Given the description of an element on the screen output the (x, y) to click on. 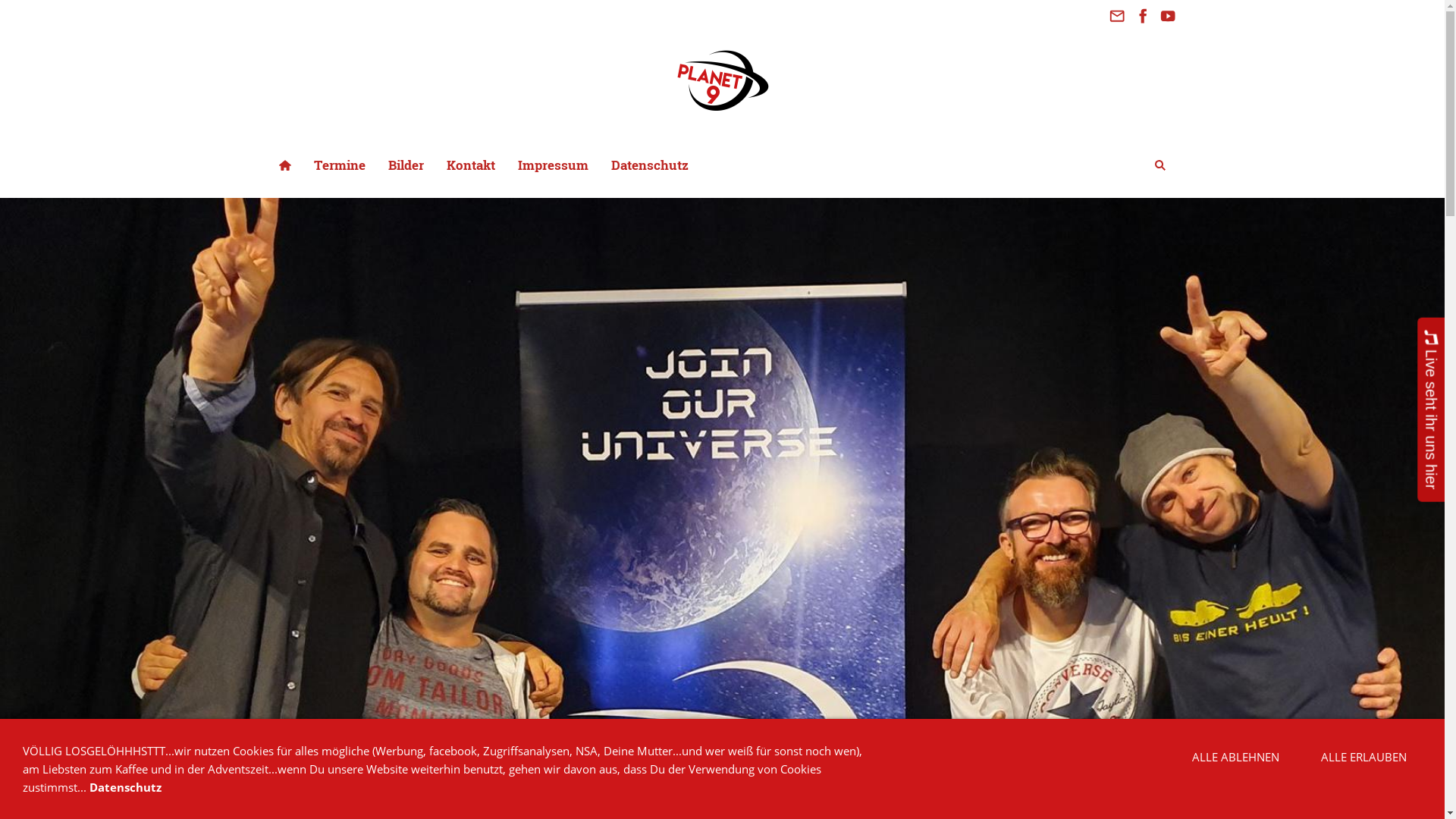
Impressum Element type: text (552, 164)
Termine Element type: text (338, 164)
Zu unserem YouTube Video-Kanal Element type: hover (1168, 16)
Bilder Element type: text (405, 164)
ALLE ABLEHNEN Element type: text (1235, 756)
Kontakt Element type: text (470, 164)
Datenschutz Element type: text (649, 164)
ALLE ERLAUBEN Element type: text (1363, 756)
Datenschutz Element type: text (125, 786)
Unsere Facebook-Seite besuchen Element type: hover (1142, 16)
Senden Sie uns eine E-Mail-Nachricht Element type: hover (1116, 16)
